Given the description of an element on the screen output the (x, y) to click on. 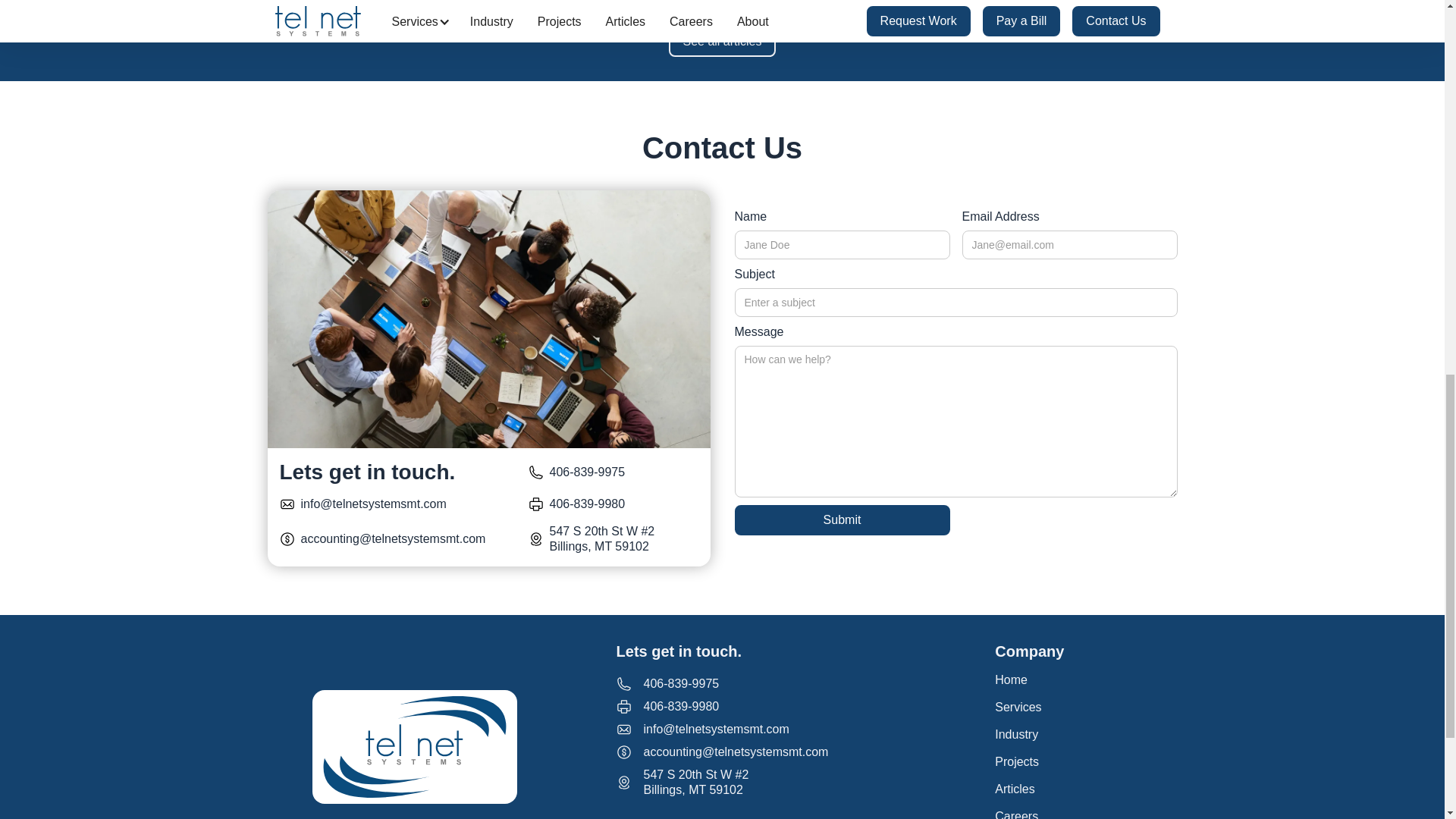
See all articles (721, 41)
Submit (841, 520)
406-839-9975 (586, 472)
Submit (1029, 679)
406-839-9980 (841, 520)
406-839-9980 (681, 706)
406-839-9975 (586, 503)
